Given the description of an element on the screen output the (x, y) to click on. 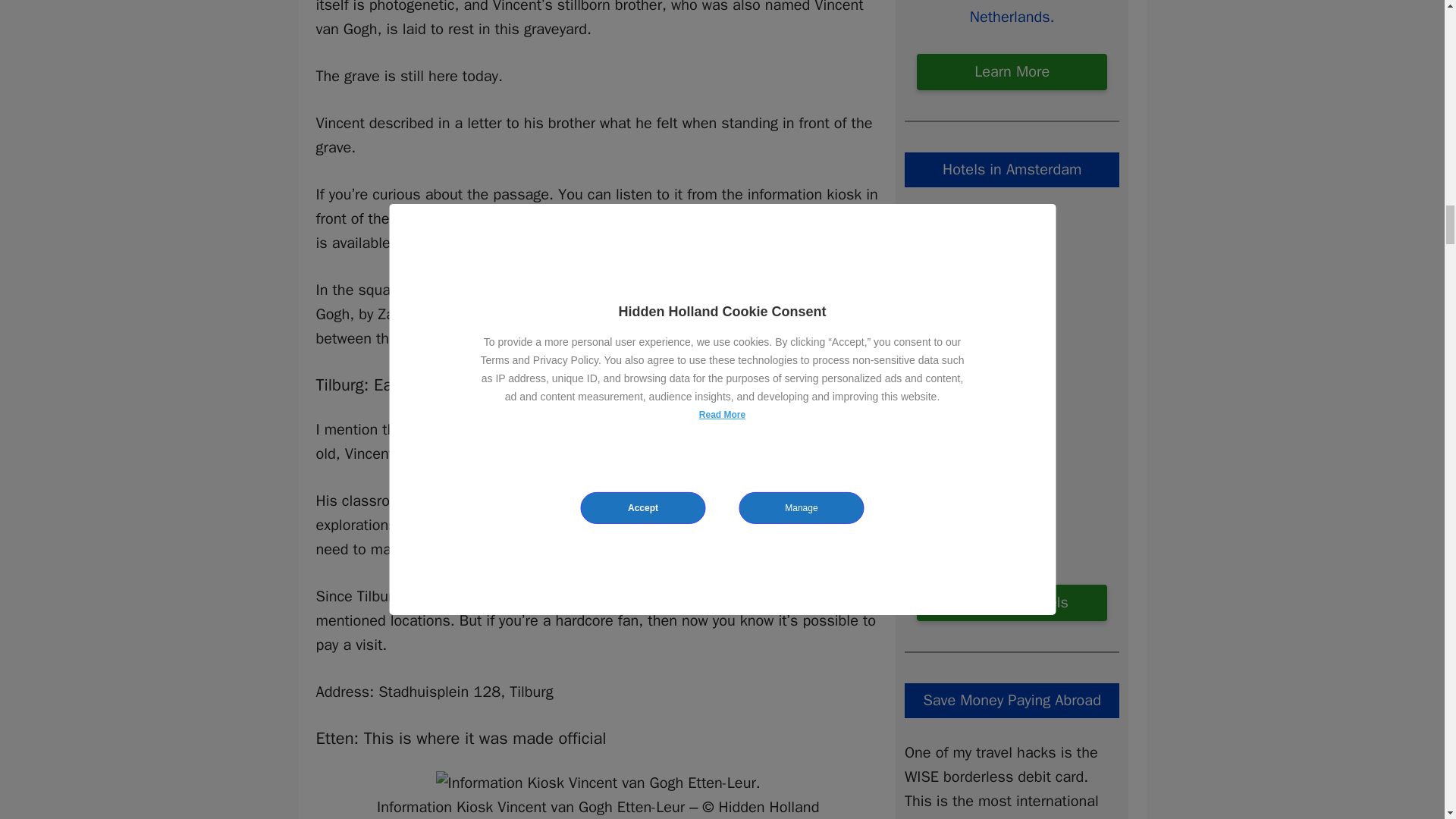
airalo-esim (1011, 14)
vincent-van-gogh-information-kiosk-etten (597, 783)
